Given the description of an element on the screen output the (x, y) to click on. 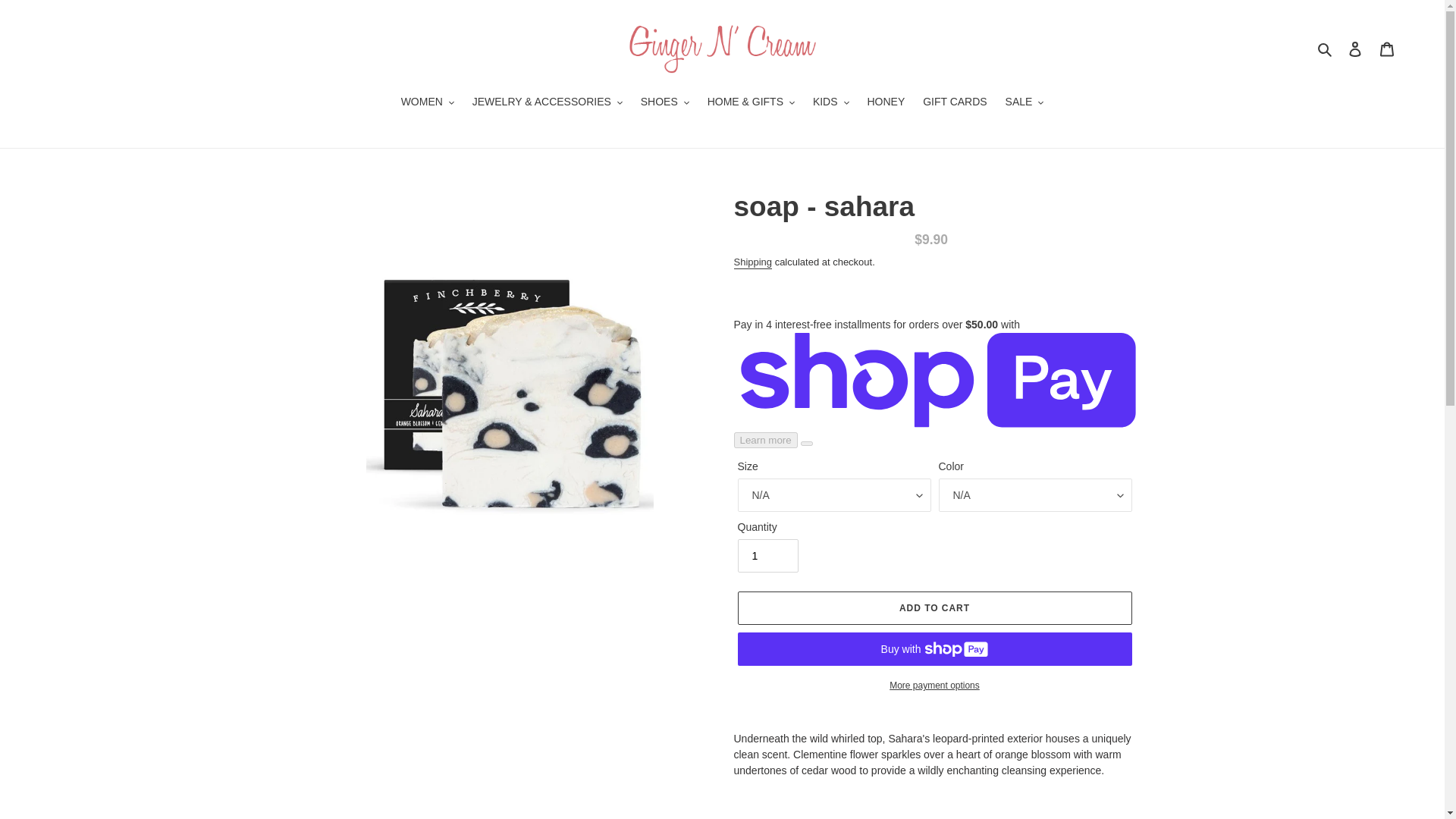
Cart (1387, 48)
1 (766, 555)
Log in (1355, 48)
Search (1326, 48)
